Given the description of an element on the screen output the (x, y) to click on. 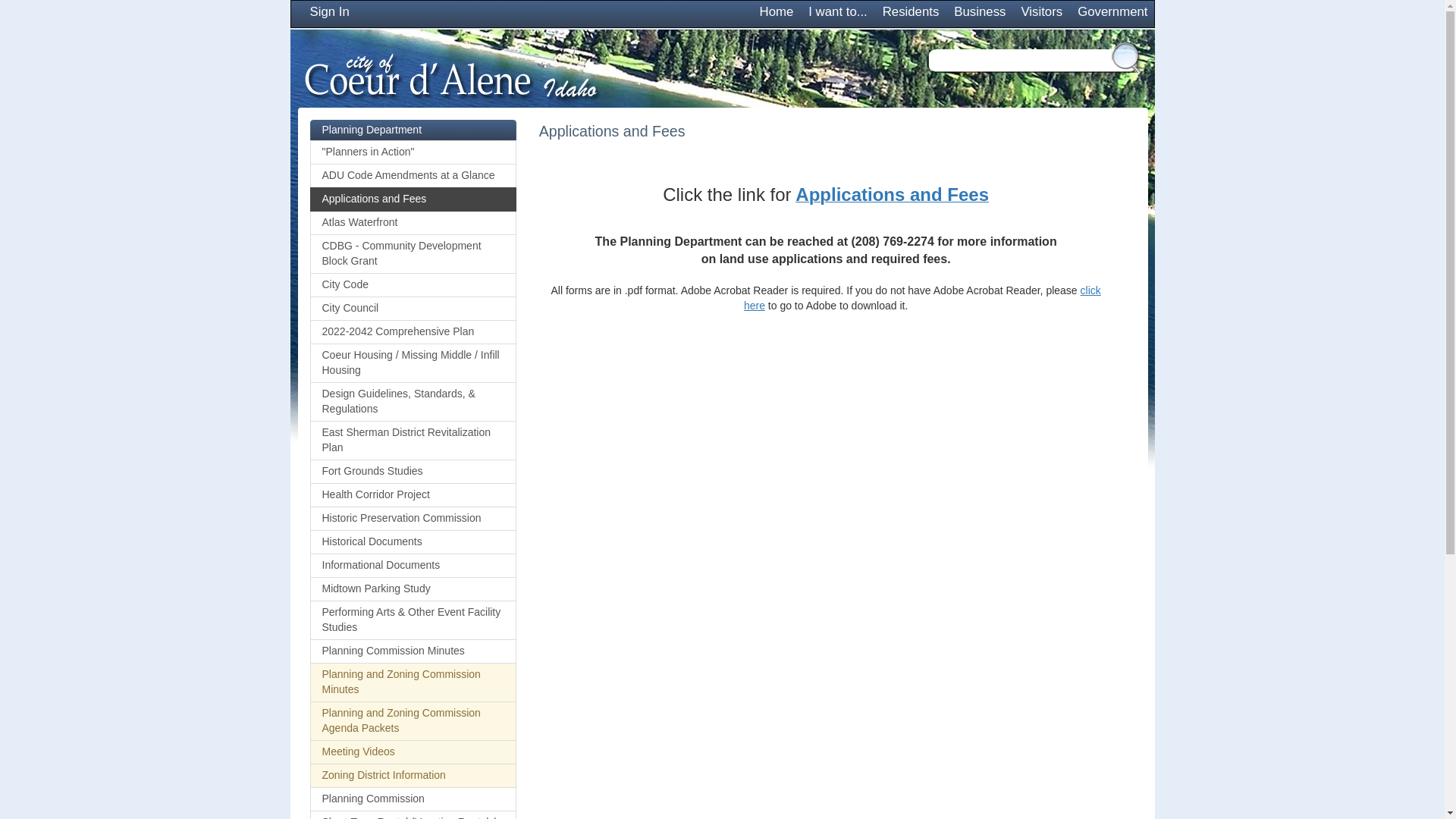
Residents (911, 13)
Sign In (328, 13)
Home (777, 13)
City of Coeur d'Alene (451, 74)
I want to... (837, 13)
